Given the description of an element on the screen output the (x, y) to click on. 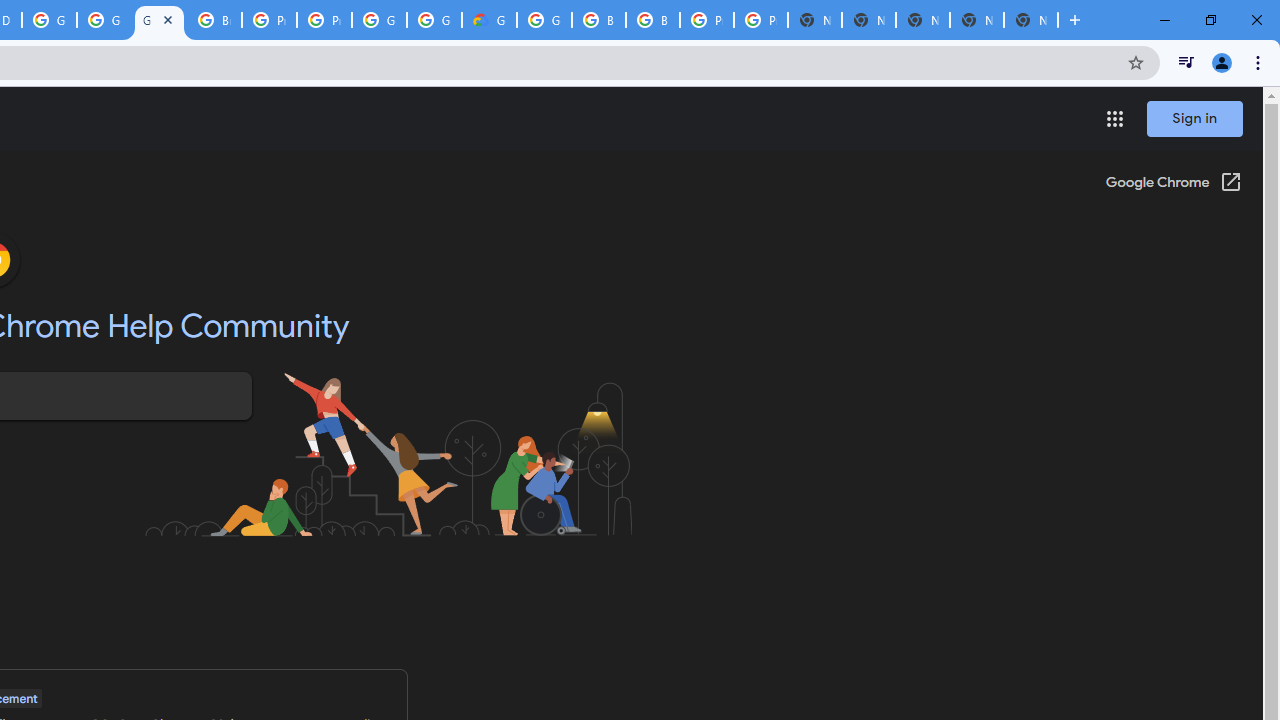
You (1221, 62)
Bookmark this tab (1135, 62)
Close (167, 19)
New Tab (1075, 20)
Google apps (1114, 118)
Browse Chrome as a guest - Computer - Google Chrome Help (652, 20)
Google Cloud Estimate Summary (489, 20)
Chrome (1260, 62)
New Tab (1030, 20)
Browse Chrome as a guest - Computer - Google Chrome Help (598, 20)
